Given the description of an element on the screen output the (x, y) to click on. 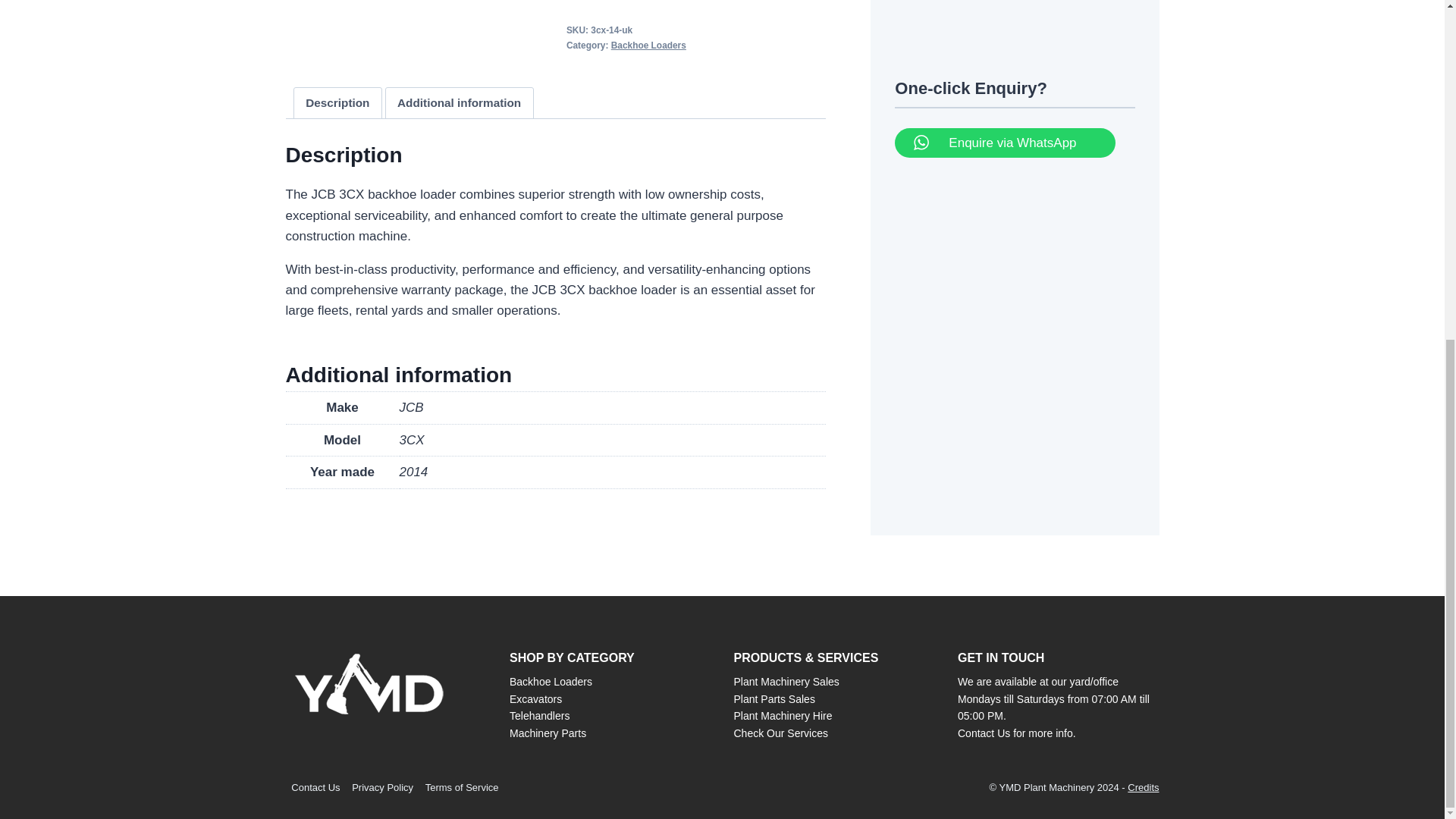
Telehandlers (539, 715)
Privacy Policy (382, 787)
Backhoe Loaders (648, 45)
Machinery Parts (547, 733)
Backhoe Loaders (550, 681)
Credits (1142, 787)
Check Our Services (780, 733)
Contact Us (315, 787)
Contact Us (984, 733)
Excavators (535, 698)
